Given the description of an element on the screen output the (x, y) to click on. 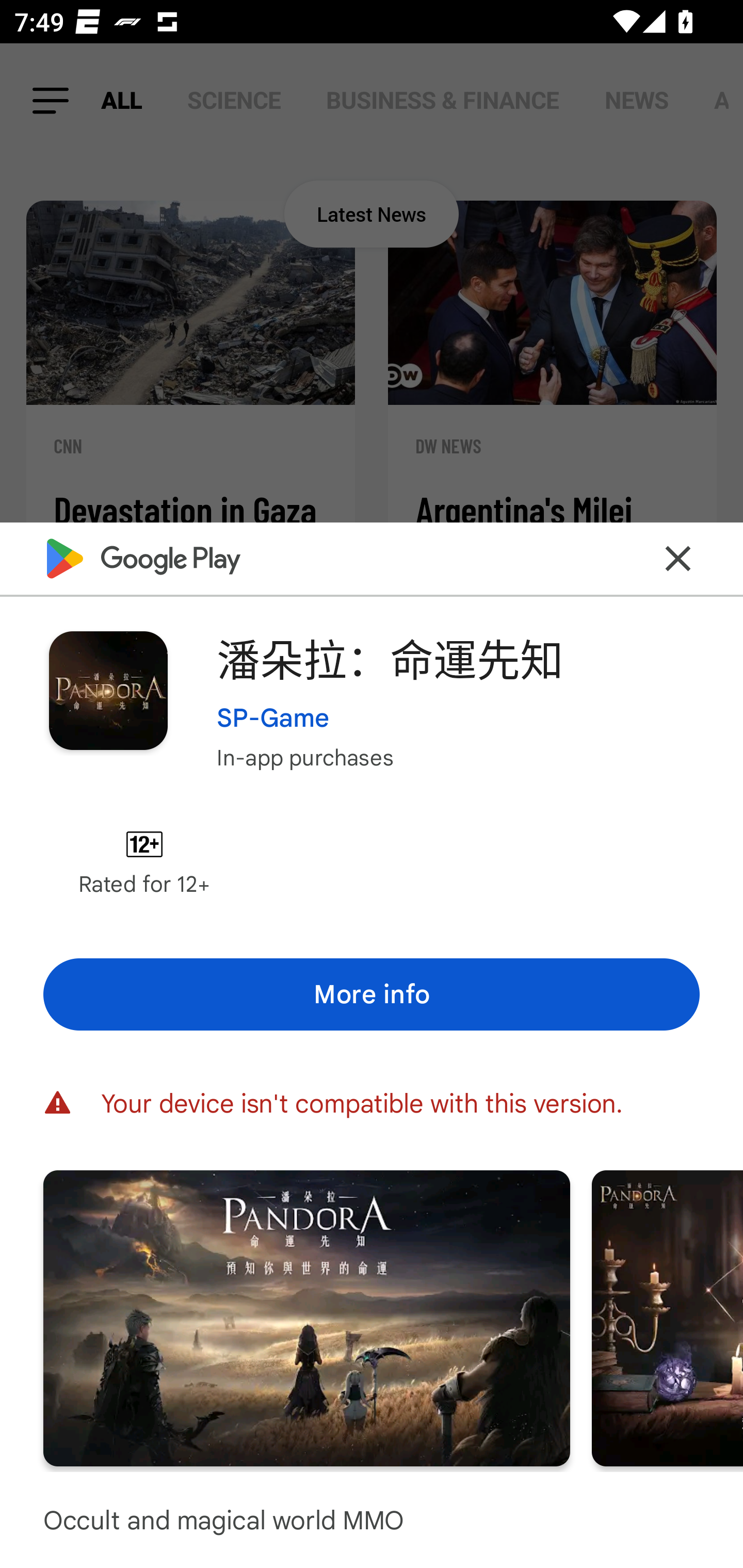
Close (677, 558)
Image of app or game icon for 潘朵拉：命運先知 (108, 690)
SP-Game (272, 716)
More info (371, 994)
Screenshot "1" of "6" (306, 1317)
